Given the description of an element on the screen output the (x, y) to click on. 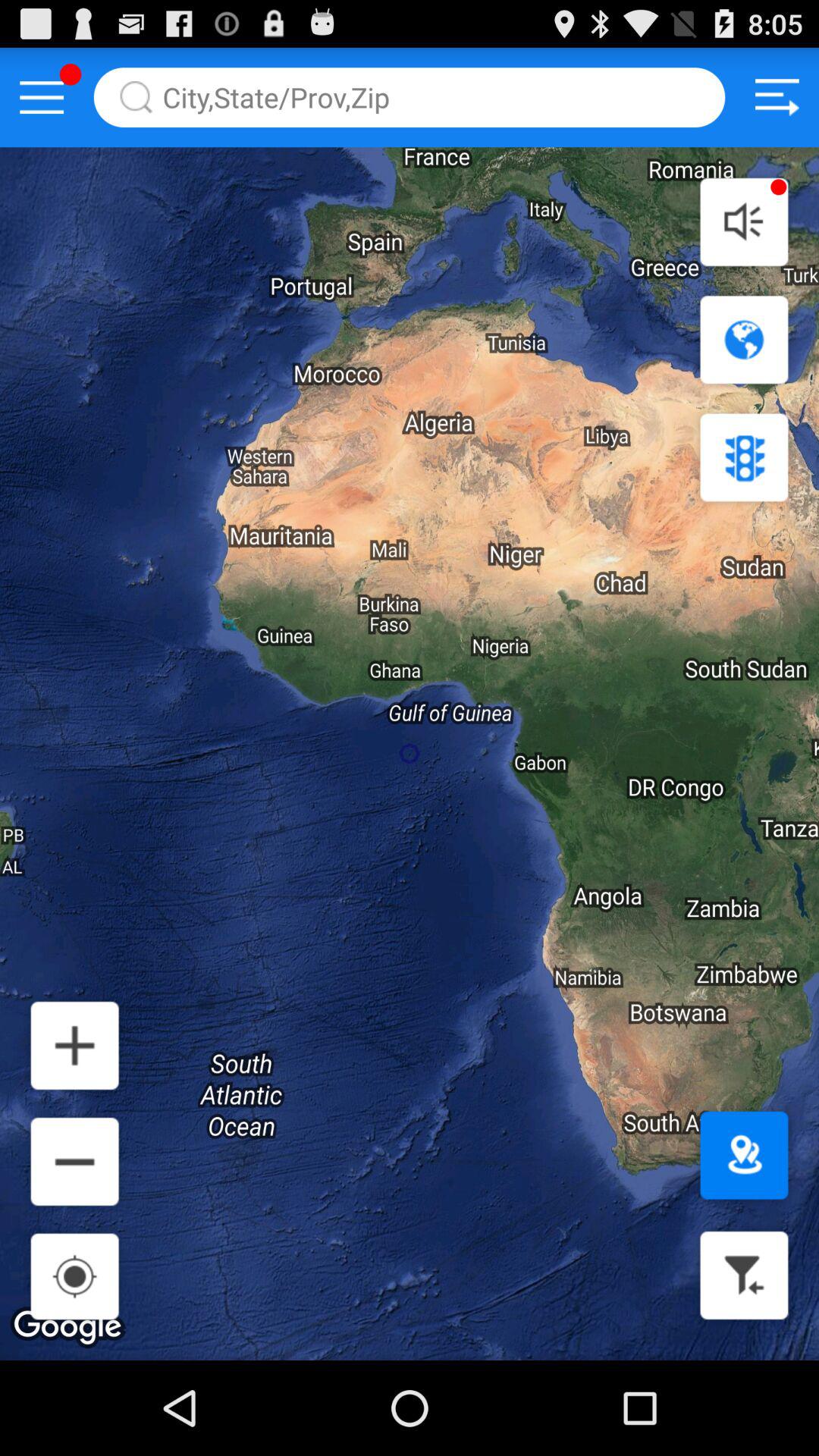
go to increase (74, 1045)
